Given the description of an element on the screen output the (x, y) to click on. 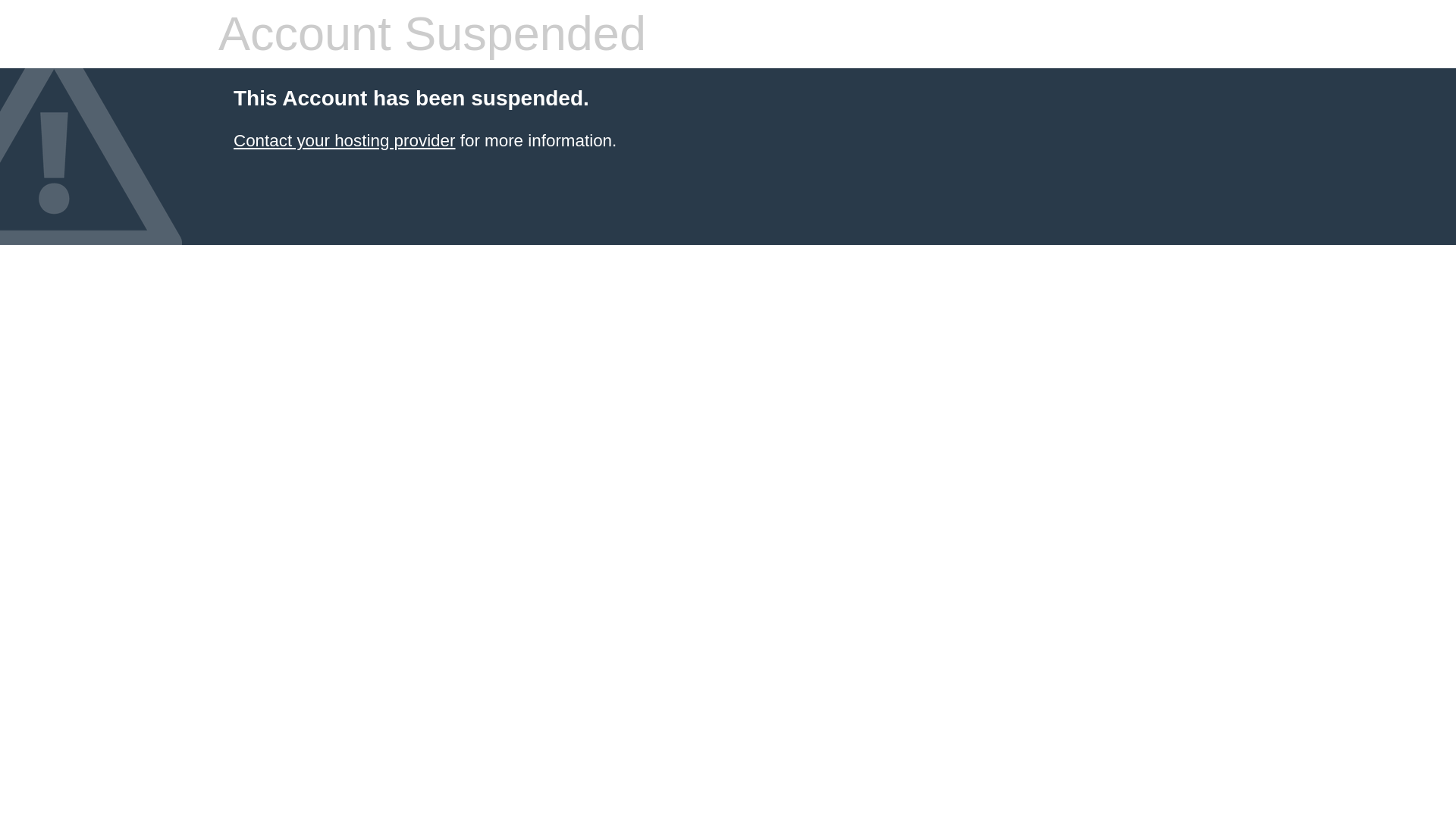
Contact your hosting provider (343, 140)
